Given the description of an element on the screen output the (x, y) to click on. 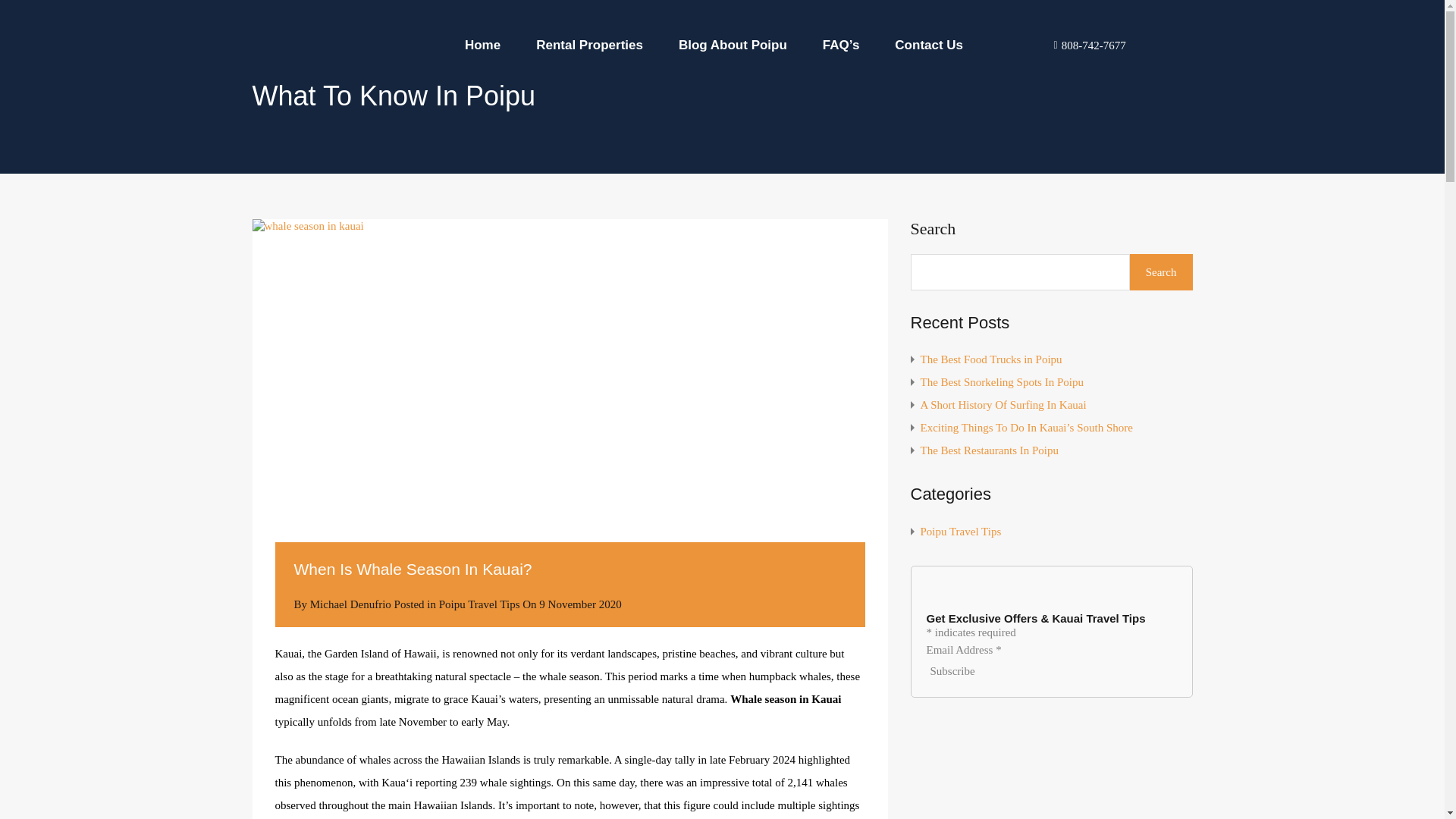
808-742-7677 (1085, 44)
Subscribe (952, 670)
Rental Properties (589, 44)
Blog About Poipu (732, 44)
Home (482, 44)
Contact Us (928, 44)
